Given the description of an element on the screen output the (x, y) to click on. 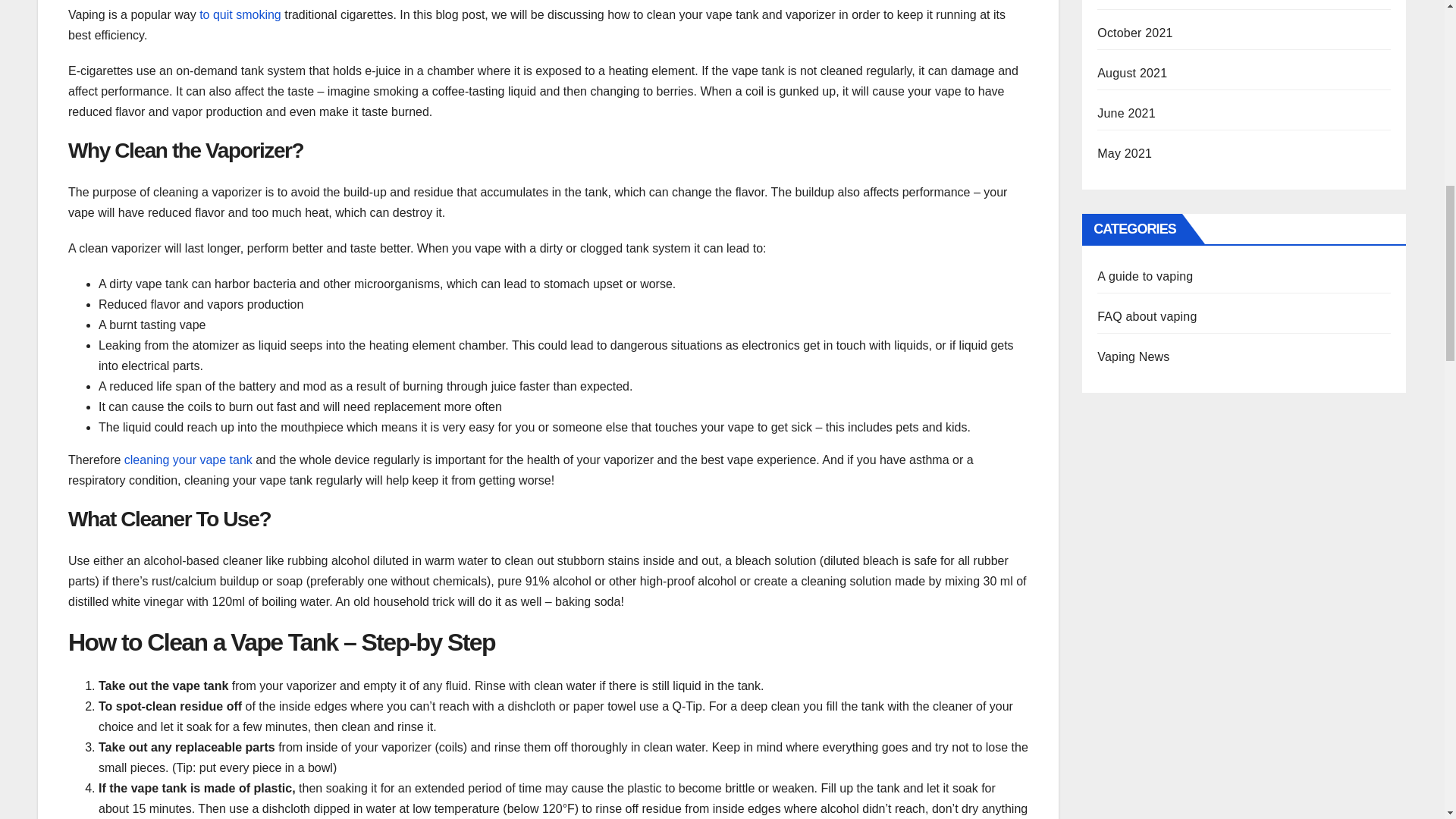
cleaning your vape tank (187, 459)
to quit smoking (240, 14)
